Given the description of an element on the screen output the (x, y) to click on. 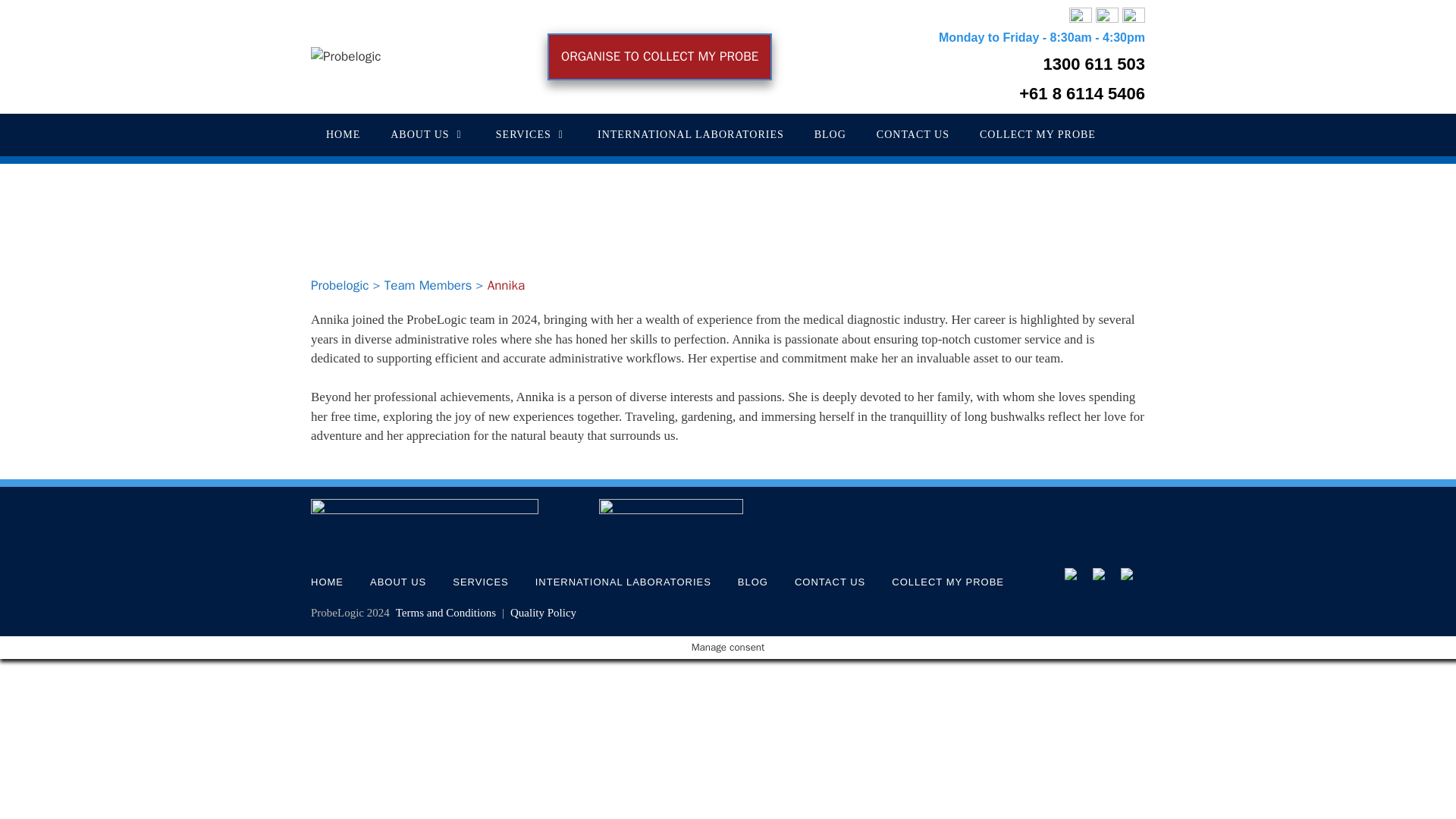
Go to Team Members. (427, 285)
INTERNATIONAL LABORATORIES (623, 582)
Team Members (427, 285)
ORGANISE TO COLLECT MY PROBE (659, 56)
INTERNATIONAL LABORATORIES (690, 134)
Probelogic (339, 285)
SERVICES (531, 134)
ABOUT US (397, 582)
SERVICES (480, 582)
ABOUT US (427, 134)
